Given the description of an element on the screen output the (x, y) to click on. 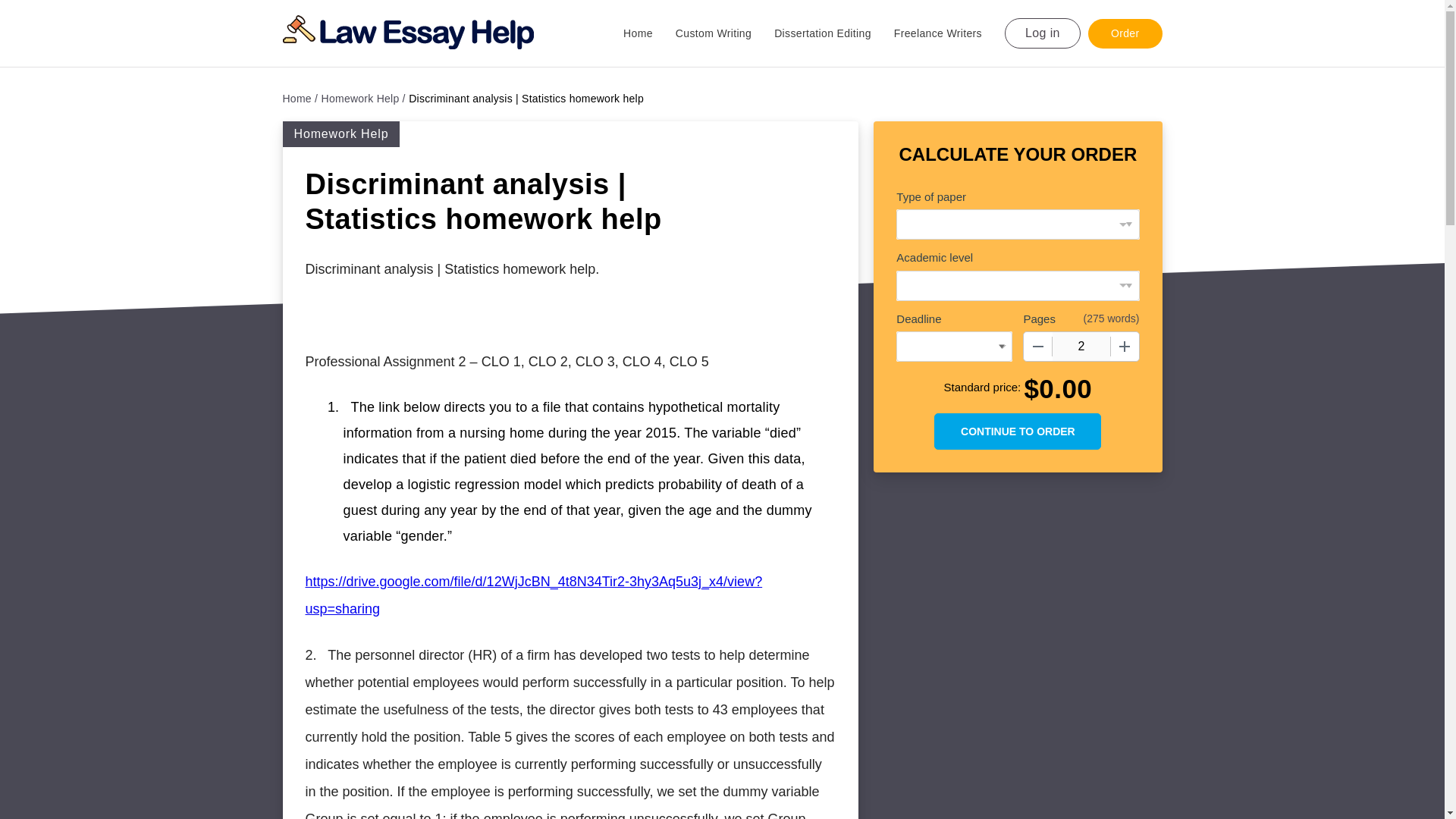
Continue to order (1017, 431)
Dissertation Editing (833, 33)
Decrease (1037, 346)
2 (1080, 346)
Homework Help (363, 98)
Order (1124, 32)
Home (299, 98)
Increase (1123, 346)
Continue to order (1017, 431)
Home (649, 33)
